Given the description of an element on the screen output the (x, y) to click on. 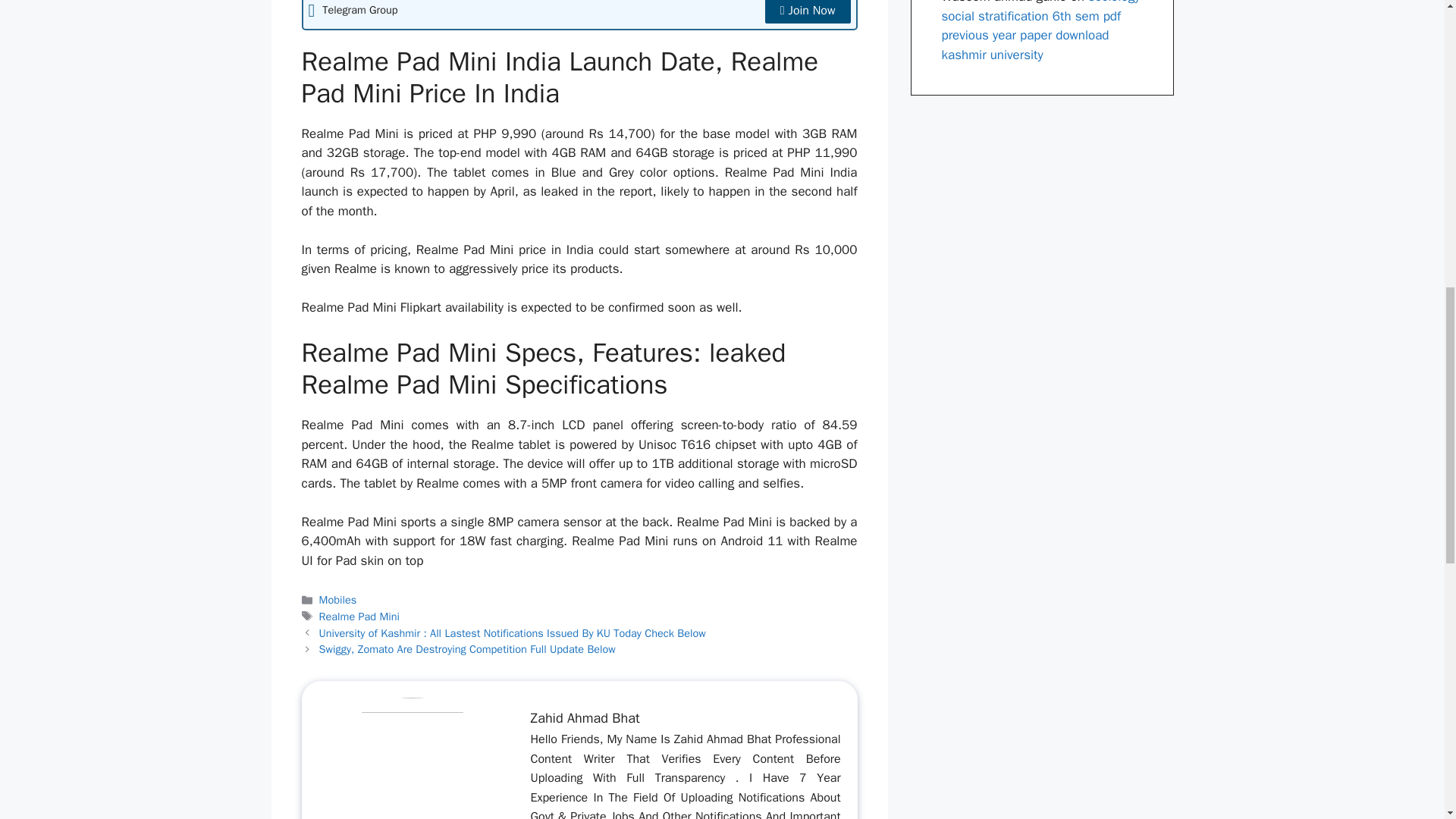
Realme Pad Mini (358, 616)
Swiggy, Zomato Are Destroying Competition Full Update Below (466, 649)
Mobiles (337, 599)
Join Now (807, 11)
Scroll back to top (1406, 720)
